Given the description of an element on the screen output the (x, y) to click on. 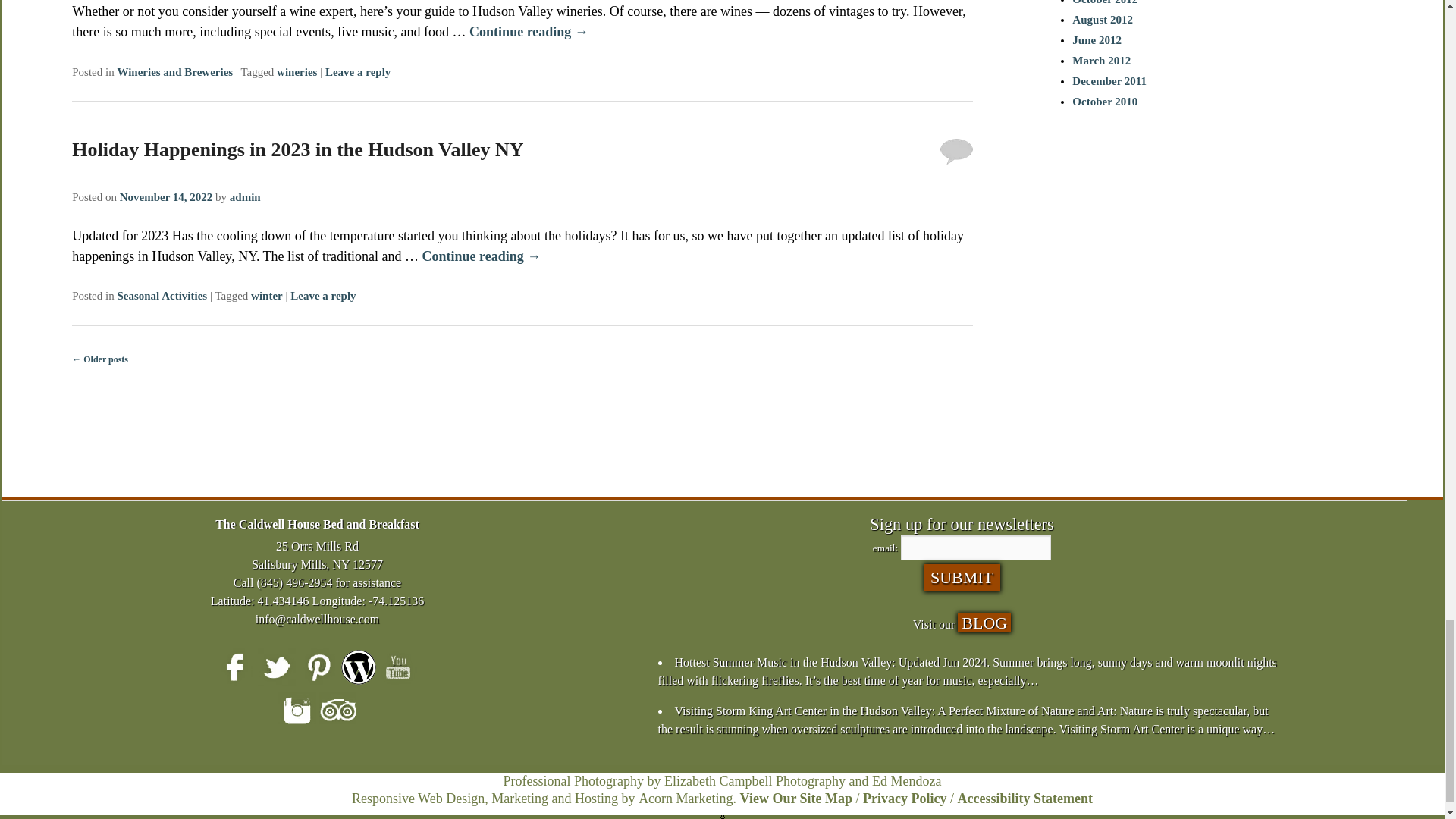
Submit (960, 577)
